Given the description of an element on the screen output the (x, y) to click on. 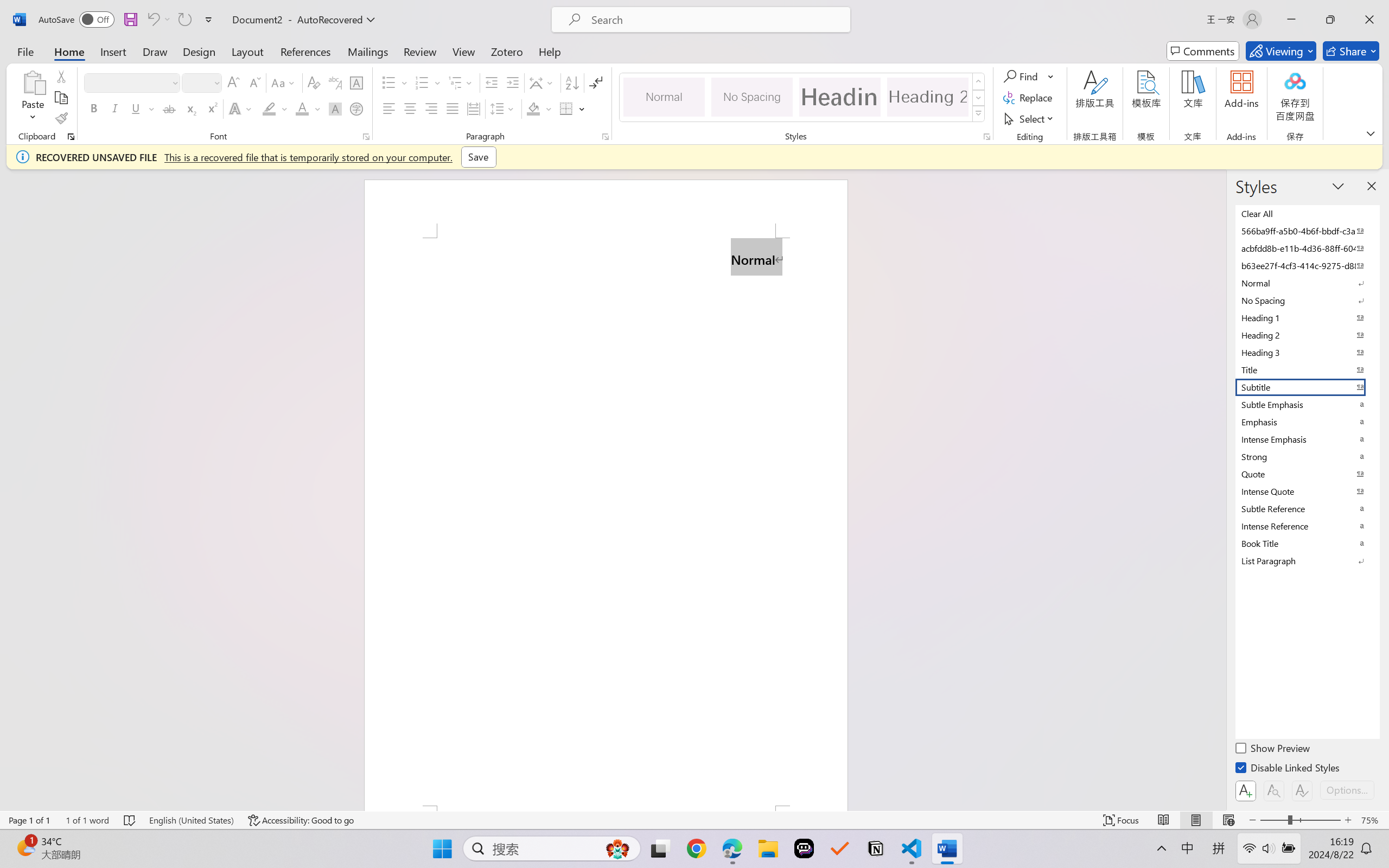
Subscript (190, 108)
Page Number Page 1 of 1 (29, 819)
Clear All (1306, 213)
Cut (60, 75)
Phonetic Guide... (334, 82)
Microsoft search (715, 19)
Can't Undo (152, 19)
